Given the description of an element on the screen output the (x, y) to click on. 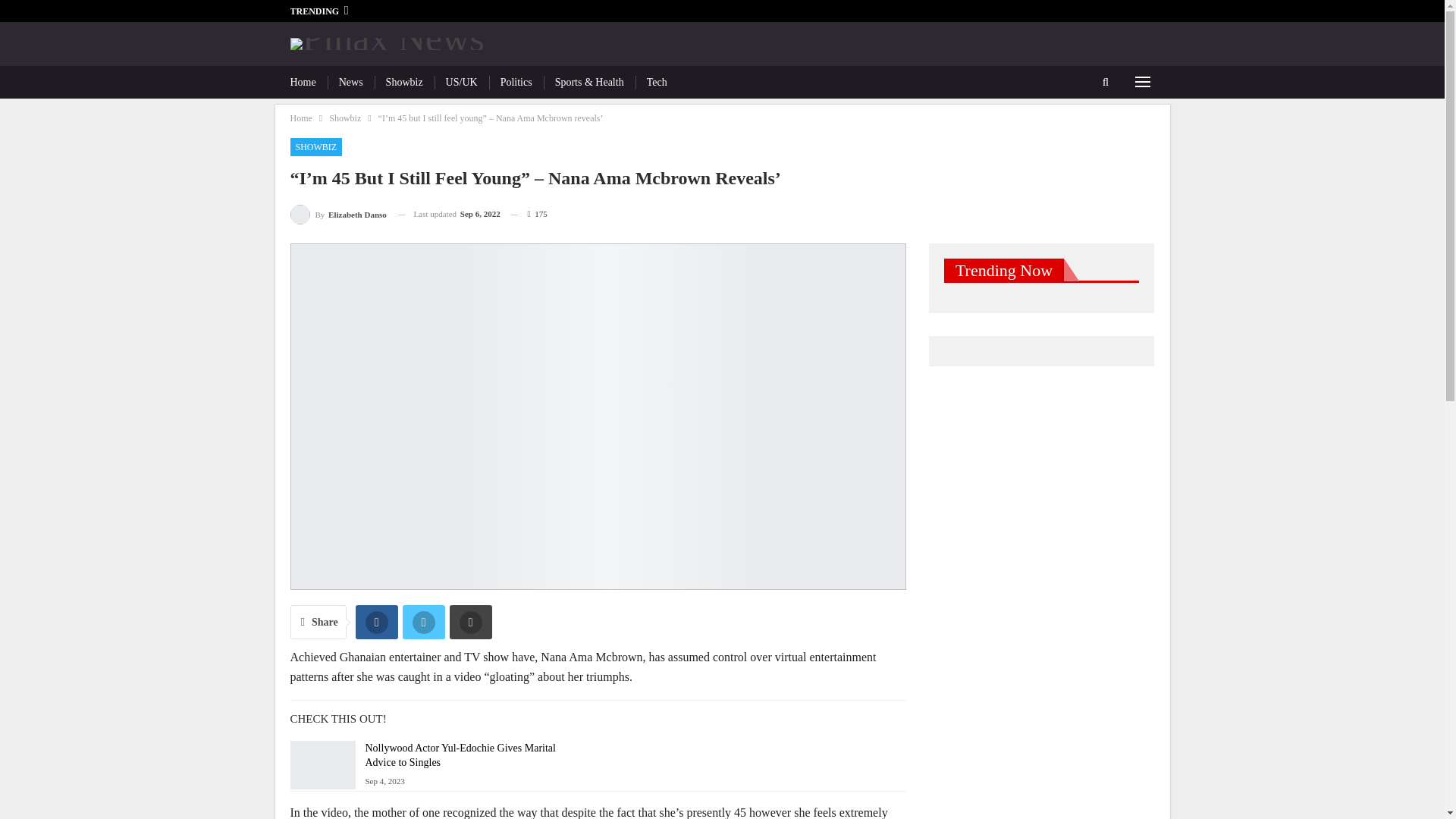
Home (300, 117)
Nollywood Actor Yul-Edochie Gives Marital Advice to Singles (460, 755)
By Elizabeth Danso (337, 213)
Nollywood Actor Yul-Edochie Gives Marital Advice to Singles (322, 765)
Showbiz (345, 117)
Showbiz (404, 82)
SHOWBIZ (315, 147)
Browse Author Articles (337, 213)
Politics (516, 82)
